Given the description of an element on the screen output the (x, y) to click on. 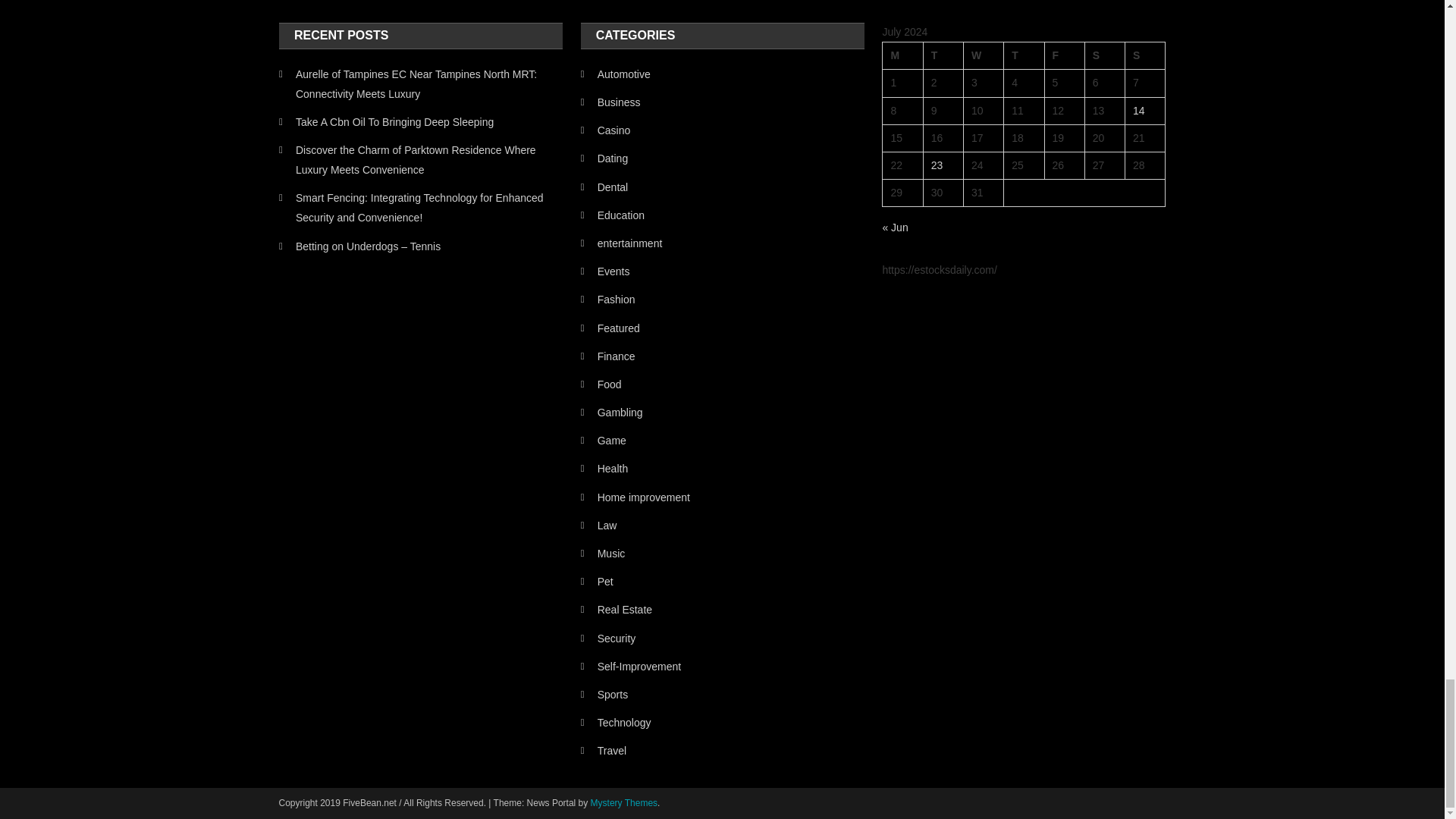
Thursday (1023, 55)
Sunday (1145, 55)
Wednesday (982, 55)
Tuesday (942, 55)
Friday (1063, 55)
Monday (902, 55)
Saturday (1104, 55)
